Given the description of an element on the screen output the (x, y) to click on. 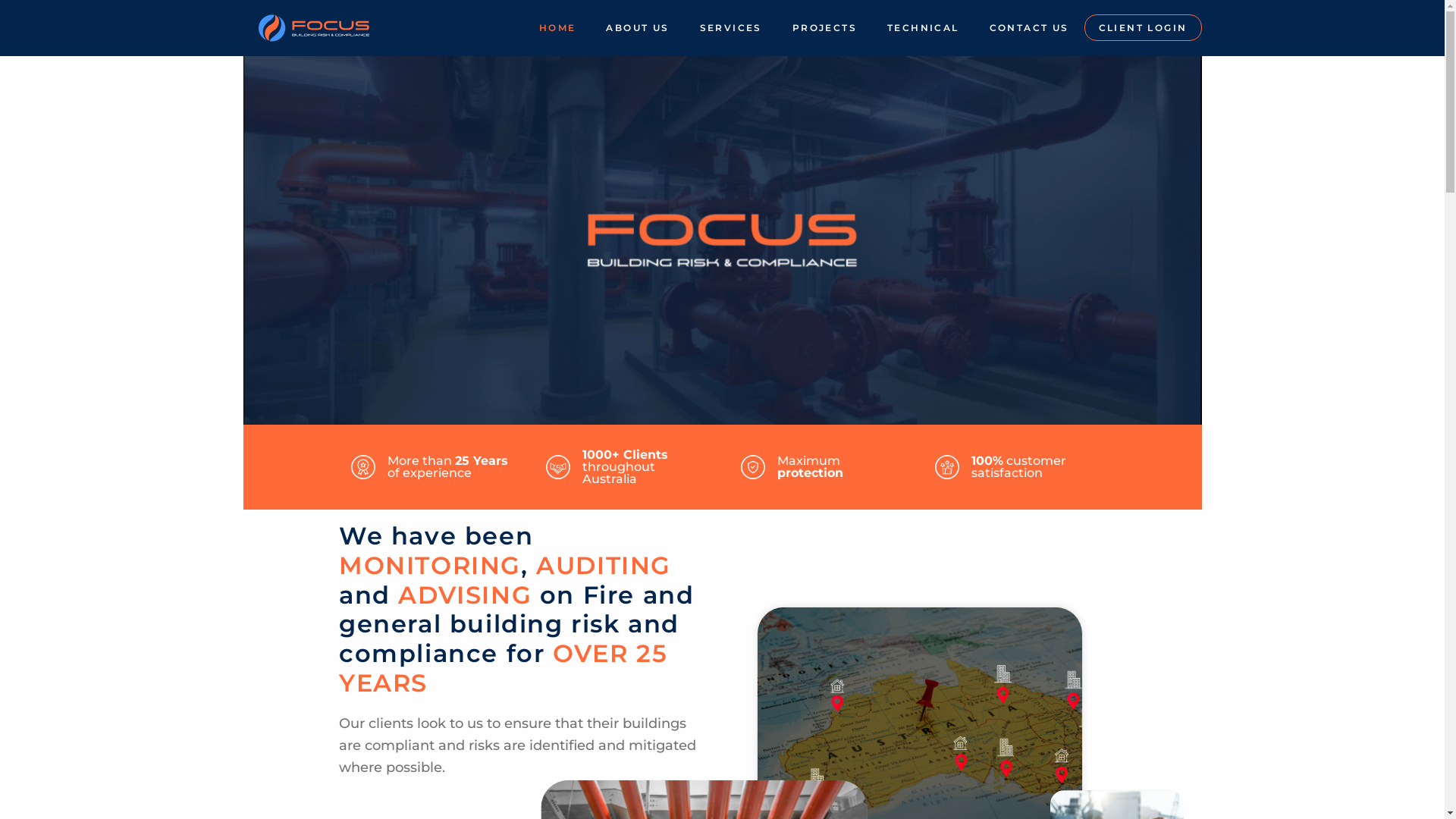
SERVICES Element type: text (730, 27)
CONTACT US Element type: text (1029, 27)
HOME Element type: text (557, 27)
CLIENT LOGIN Element type: text (1142, 27)
ABOUT US Element type: text (637, 27)
PROJECTS Element type: text (824, 27)
TECHNICAL Element type: text (923, 27)
